Given the description of an element on the screen output the (x, y) to click on. 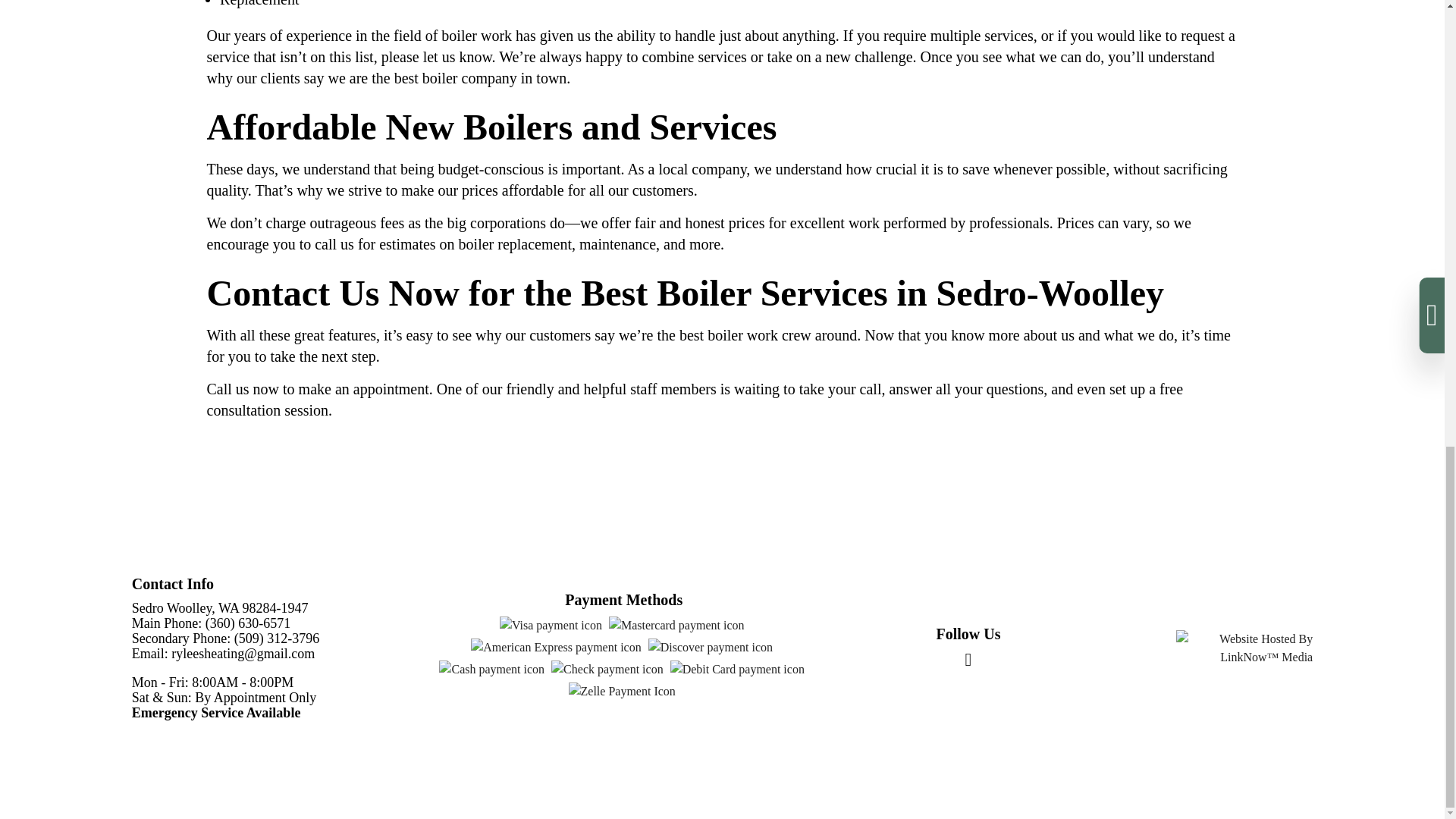
American Express (555, 647)
Visa (550, 625)
Debit Card (737, 669)
Google Maps (968, 661)
Check (607, 669)
Discover (710, 647)
Mastercard (676, 625)
Cash (491, 669)
Zelle (622, 691)
